Given the description of an element on the screen output the (x, y) to click on. 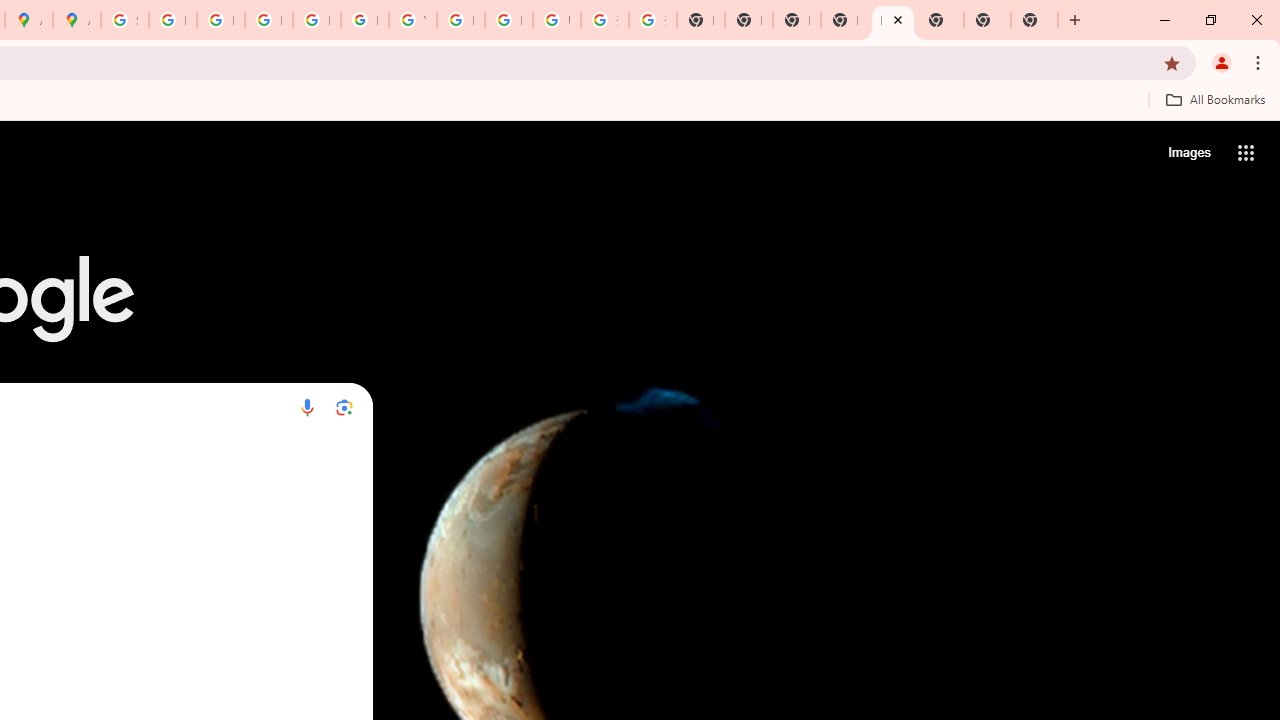
New Tab (892, 20)
Search by image (344, 407)
Search for Images  (1188, 152)
Search by voice (307, 407)
Browse Chrome as a guest - Computer - Google Chrome Help (460, 20)
All Bookmarks (1215, 99)
YouTube (412, 20)
